Given the description of an element on the screen output the (x, y) to click on. 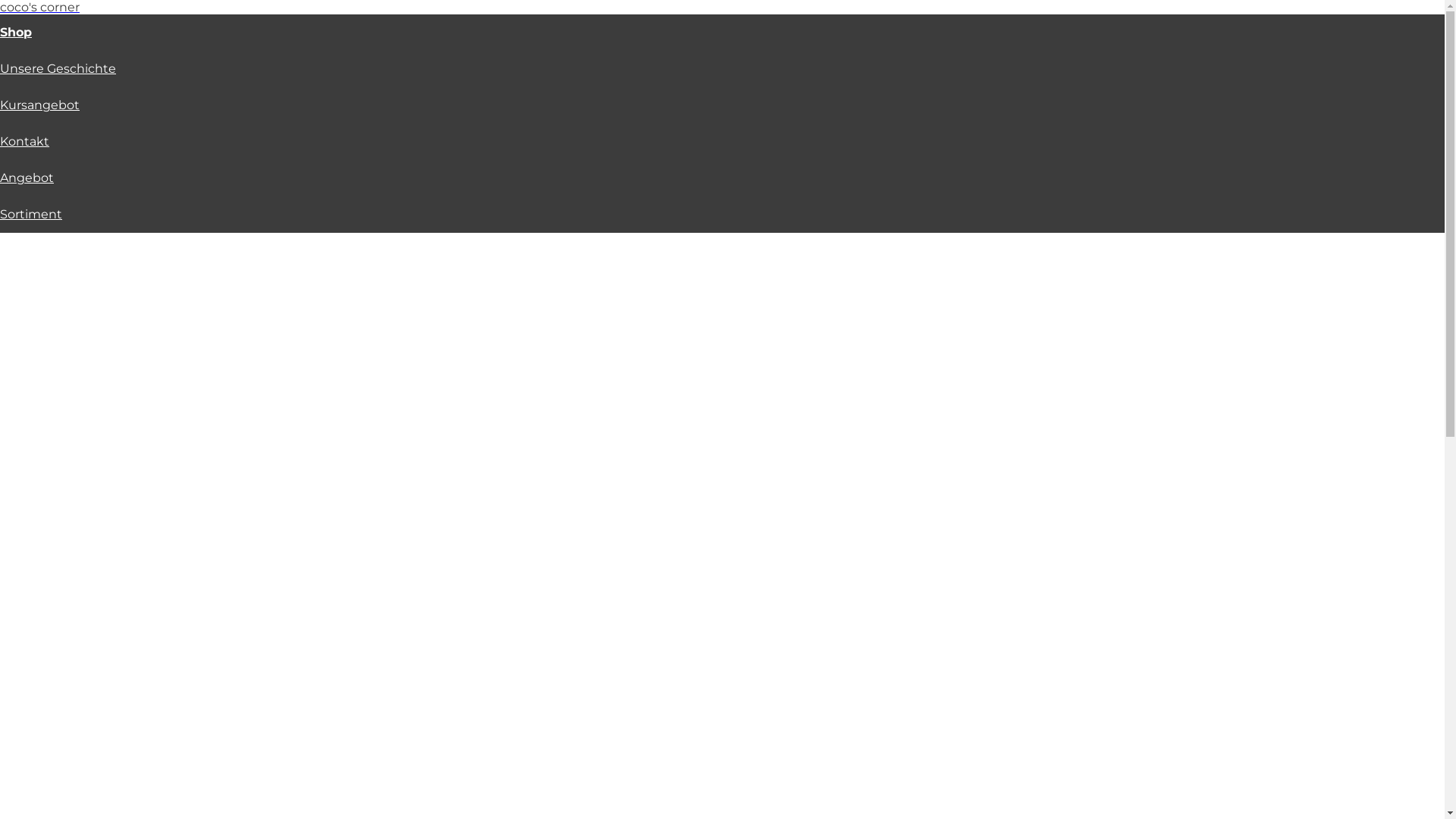
Kursangebot Element type: text (39, 104)
Sortiment Element type: text (31, 214)
Shop Element type: text (15, 32)
Unsere Geschichte Element type: text (58, 68)
Angebot Element type: text (26, 177)
coco's corner Element type: text (39, 6)
Kontakt Element type: text (24, 141)
